Given the description of an element on the screen output the (x, y) to click on. 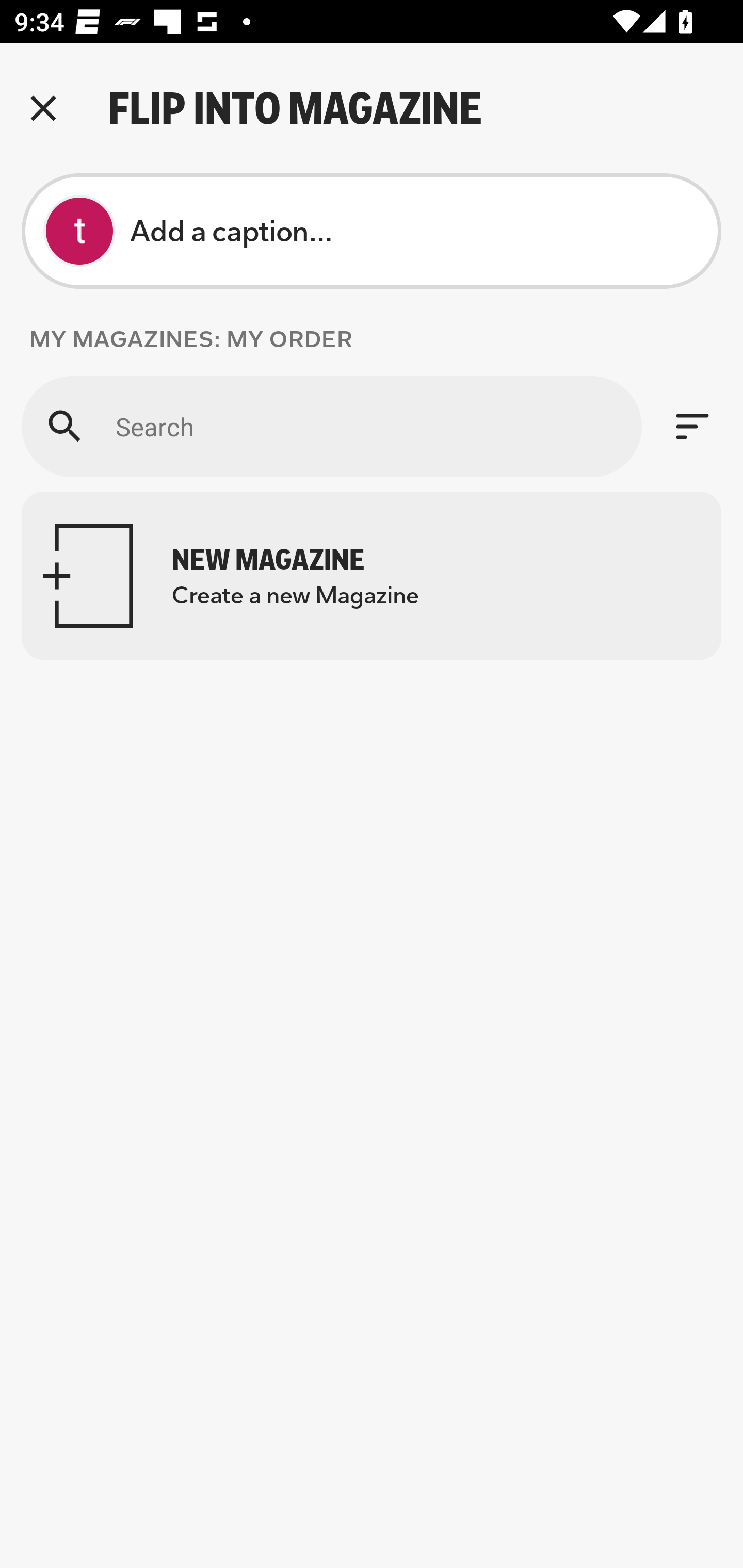
test appium Add a caption… (371, 231)
Search (331, 426)
NEW MAGAZINE Create a new Magazine (371, 575)
